Given the description of an element on the screen output the (x, y) to click on. 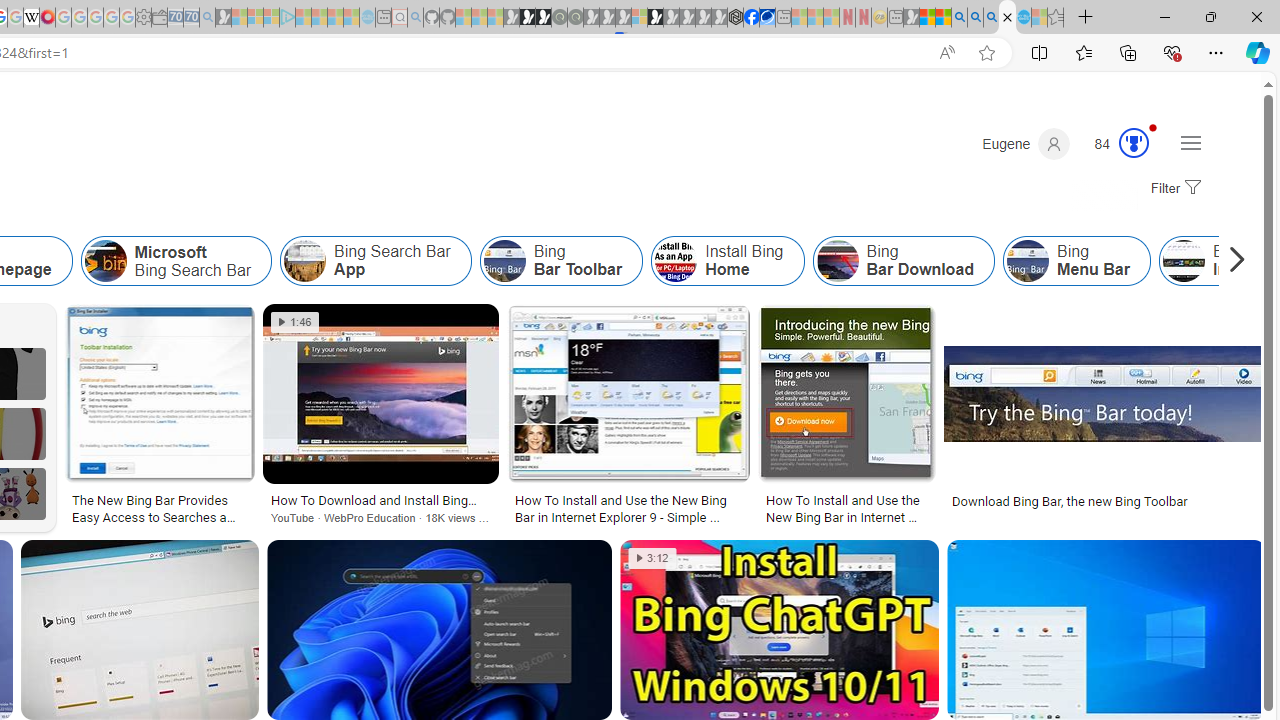
Bing Bar Toolbar (504, 260)
Nordace - Cooler Bags (735, 17)
Bing Search Bar Install - Search Images (1007, 17)
Eugene (1026, 143)
1:46 (295, 322)
3:12 (652, 558)
